Given the description of an element on the screen output the (x, y) to click on. 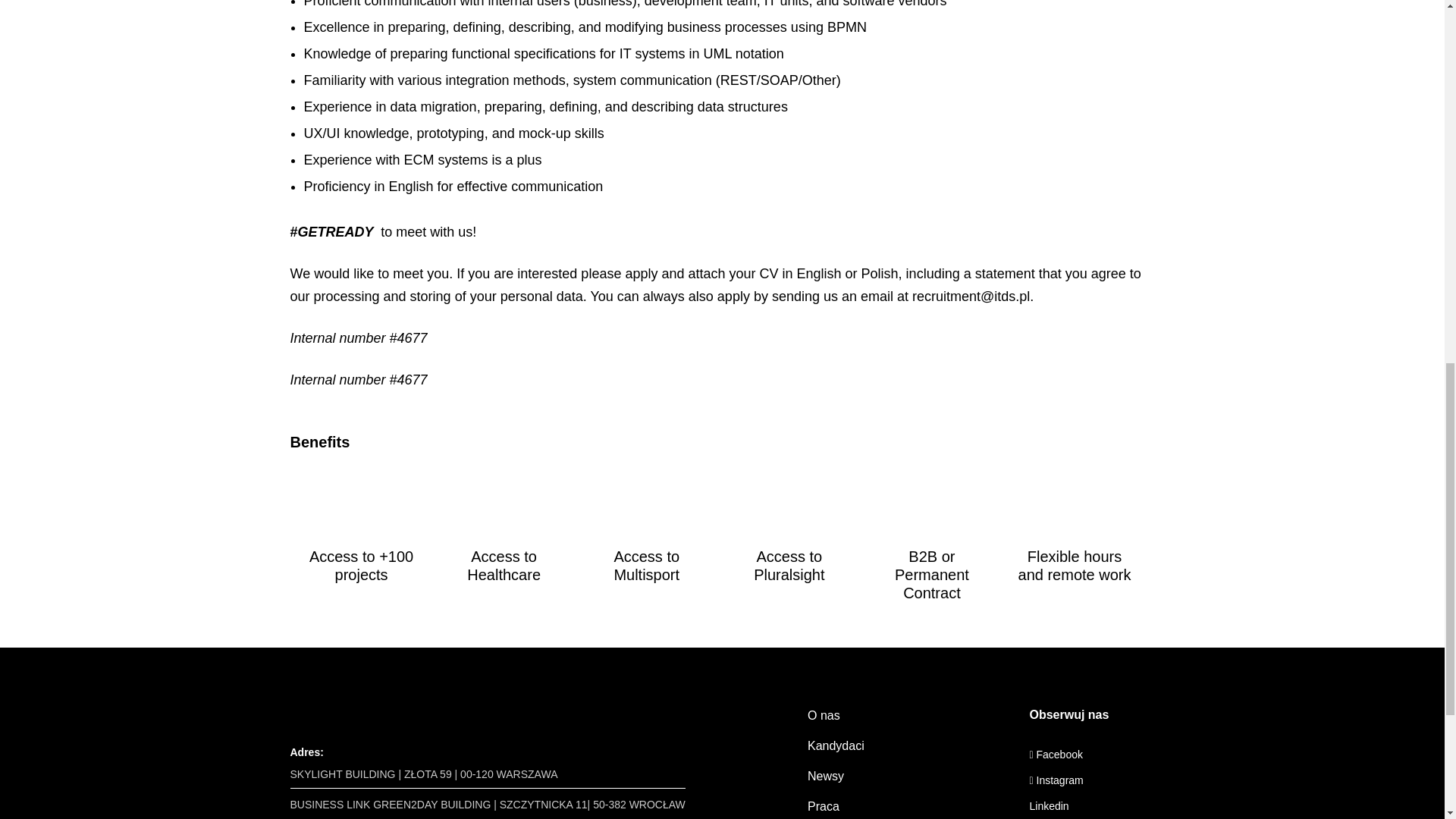
Praca (824, 806)
O nas (824, 715)
Linkedin (1048, 806)
Facebook (1056, 754)
Newsy (826, 775)
Kandydaci (836, 745)
Instagram (1056, 779)
